Given the description of an element on the screen output the (x, y) to click on. 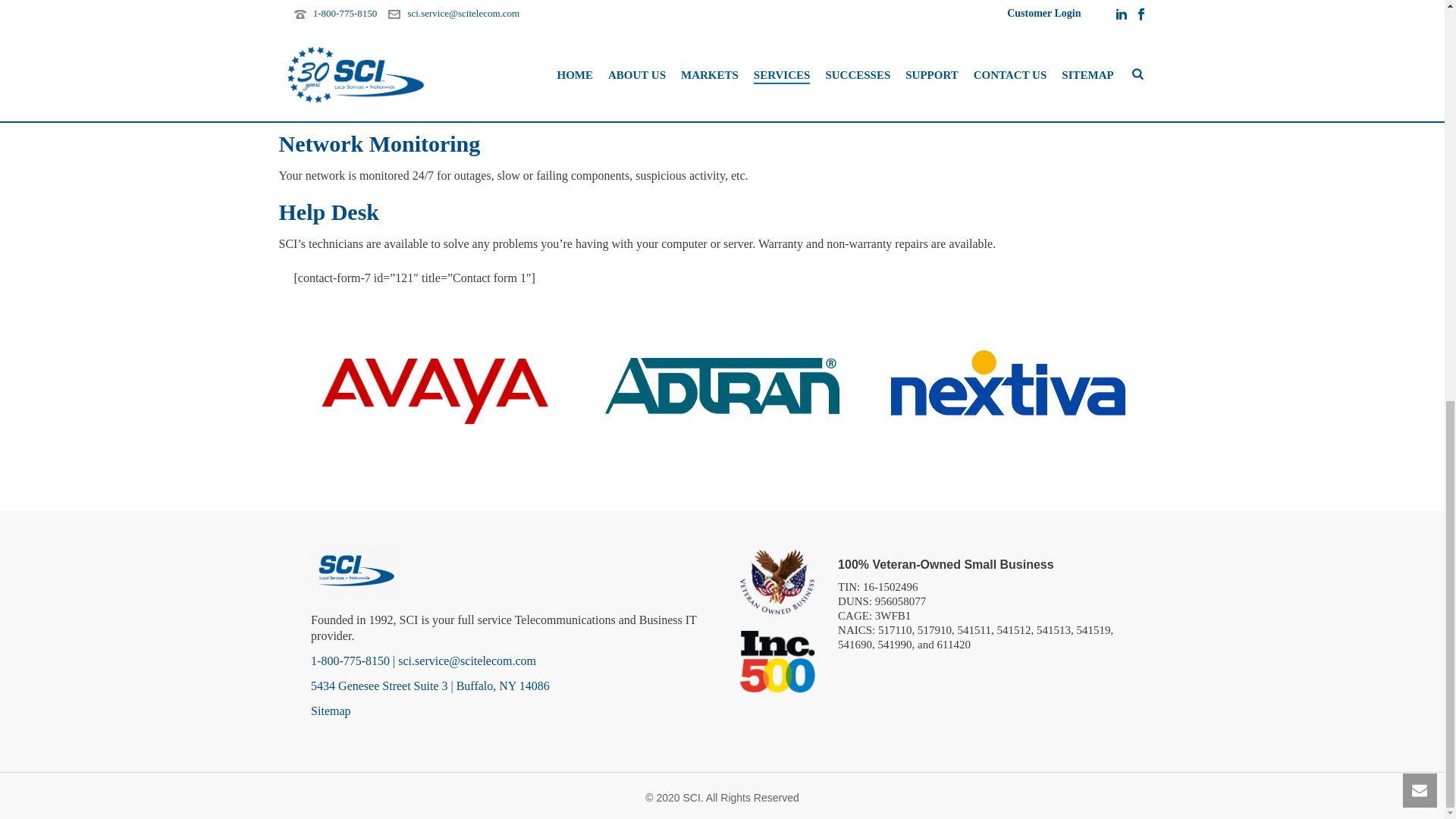
adtran (722, 385)
nextiva (1008, 382)
avaya (435, 391)
